Given the description of an element on the screen output the (x, y) to click on. 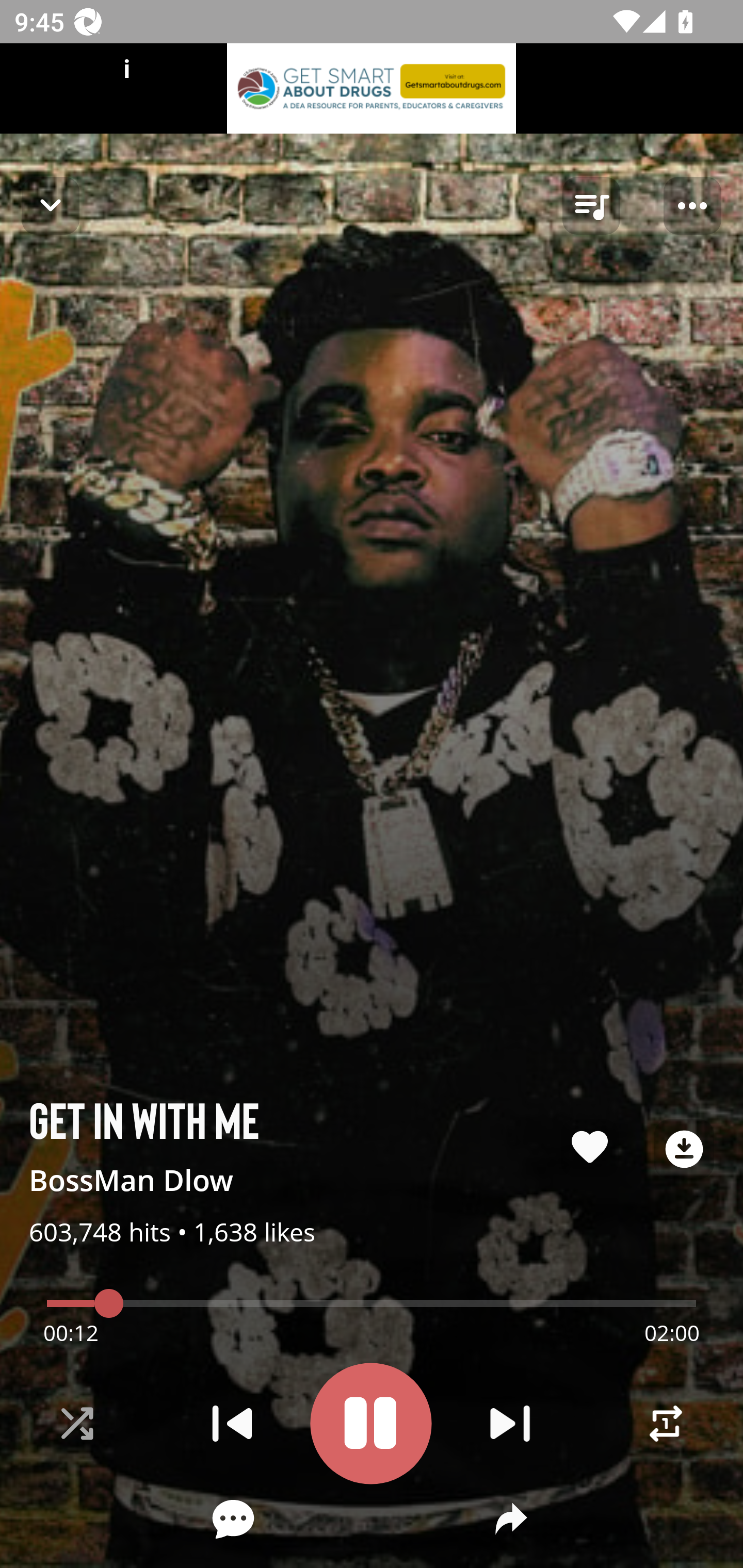
Navigate up (50, 205)
queue (590, 206)
Player options (692, 206)
